Given the description of an element on the screen output the (x, y) to click on. 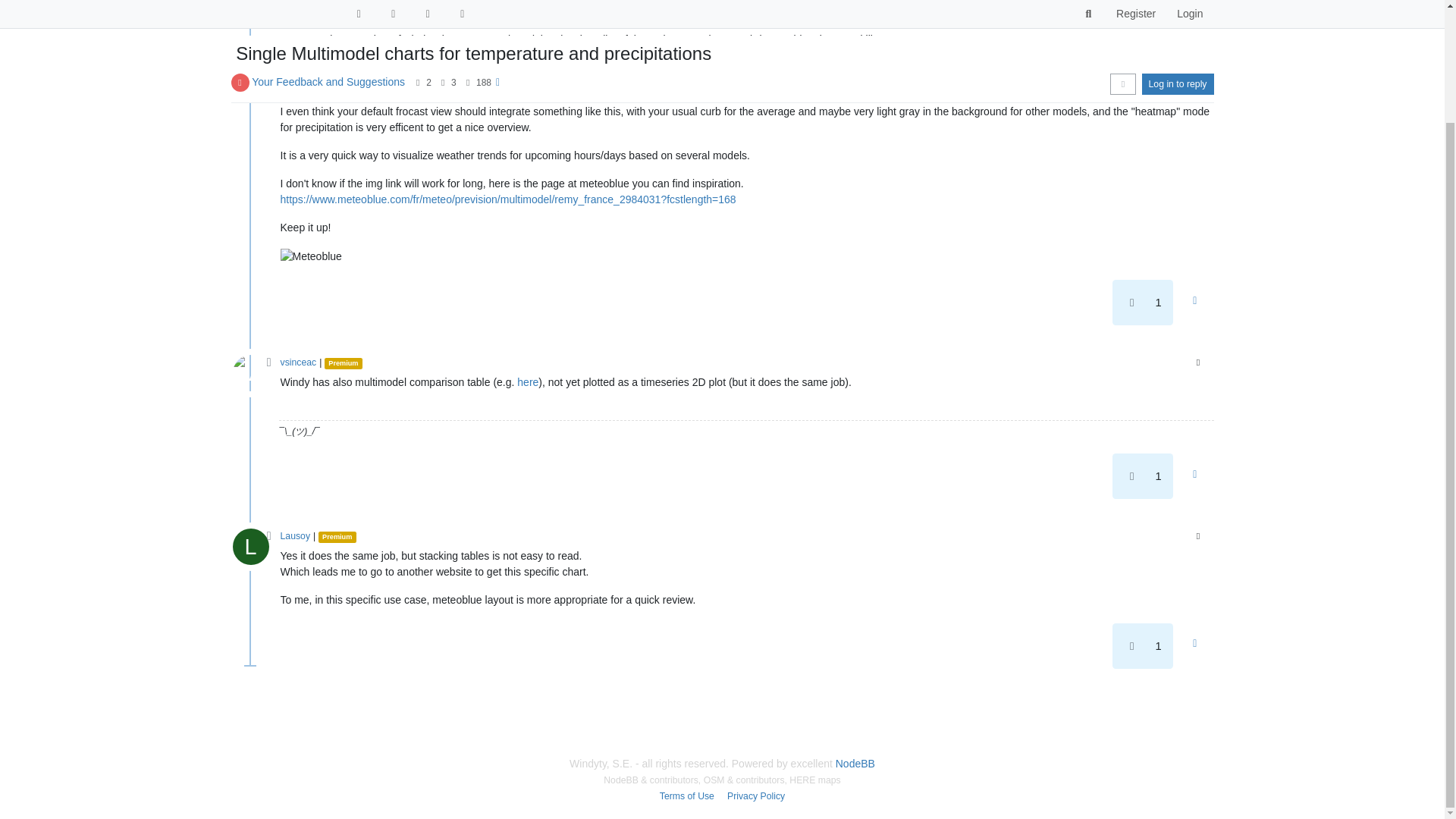
vsinceac (299, 362)
Lausoy (249, 10)
here (527, 381)
L (255, 6)
